Given the description of an element on the screen output the (x, y) to click on. 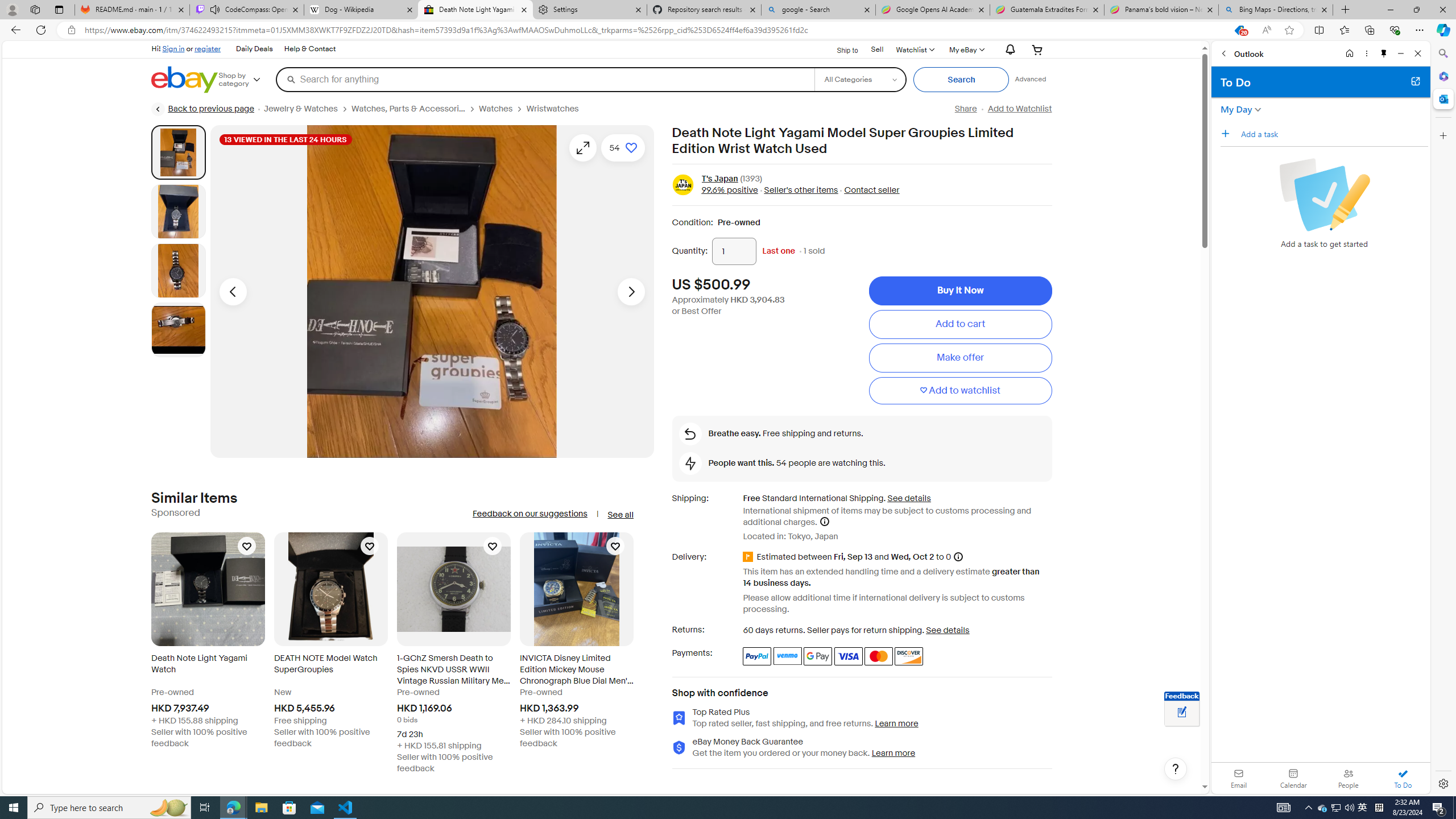
Help & Contact (309, 49)
Watchlist (914, 49)
Open in new tab (1414, 80)
Advanced Search (1030, 78)
Next image - Item images thumbnails (631, 291)
Buy It Now (959, 290)
Help, opens dialogs (1175, 768)
Previous image - Item images thumbnails (232, 291)
Shipping help - opens a layer (823, 521)
AutomationID: gh-eb-Alerts (1008, 49)
